Given the description of an element on the screen output the (x, y) to click on. 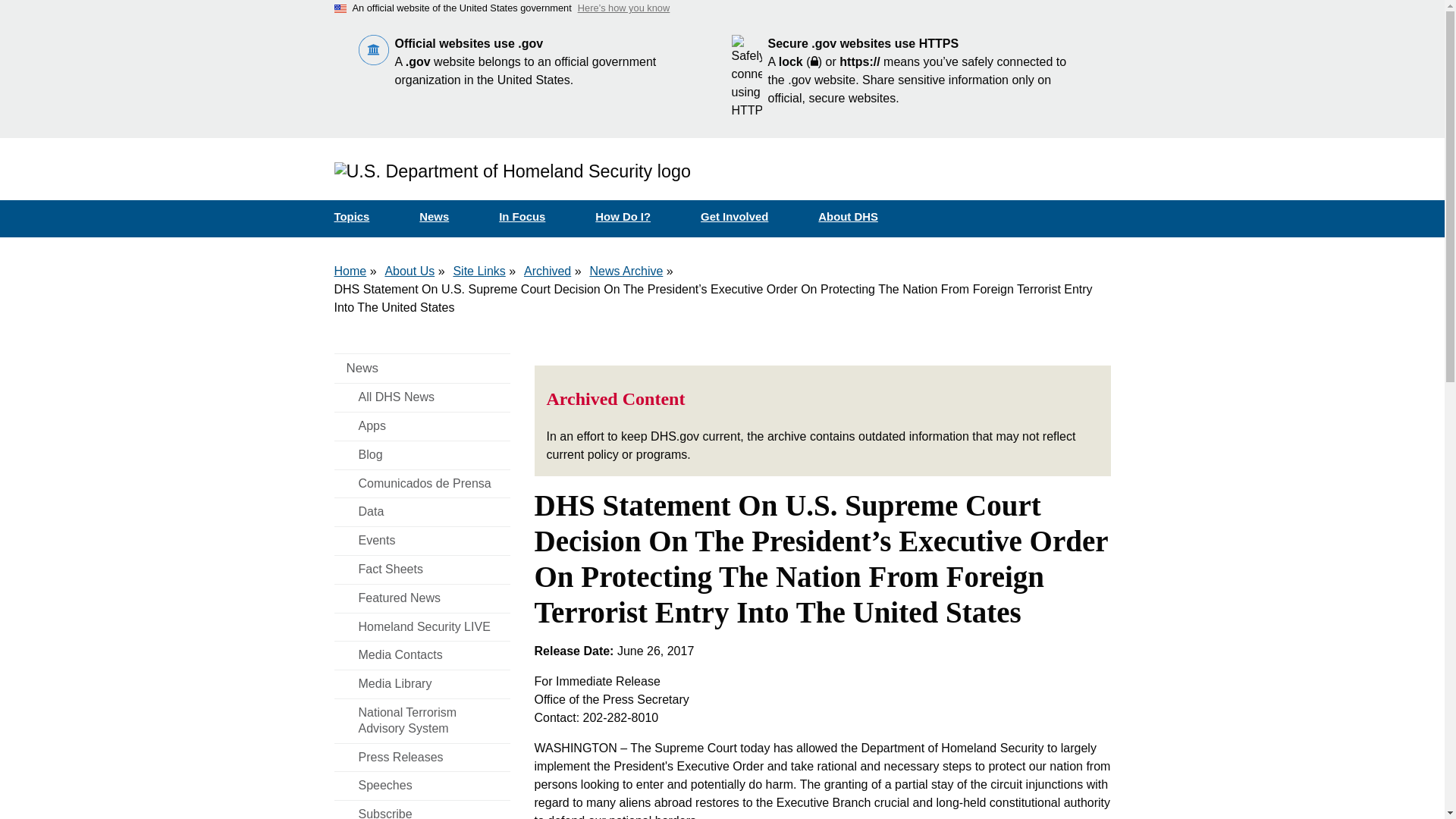
Data (421, 511)
News Archive (625, 270)
Featured News (421, 598)
In Focus (534, 216)
News (421, 368)
Site Links (478, 270)
National Terrorism Advisory System (421, 720)
About DHS (860, 216)
Blog (421, 455)
Media Library (421, 684)
Press Releases (421, 757)
About Us (408, 270)
Apps (421, 426)
How Do I? (635, 216)
News (421, 368)
